Given the description of an element on the screen output the (x, y) to click on. 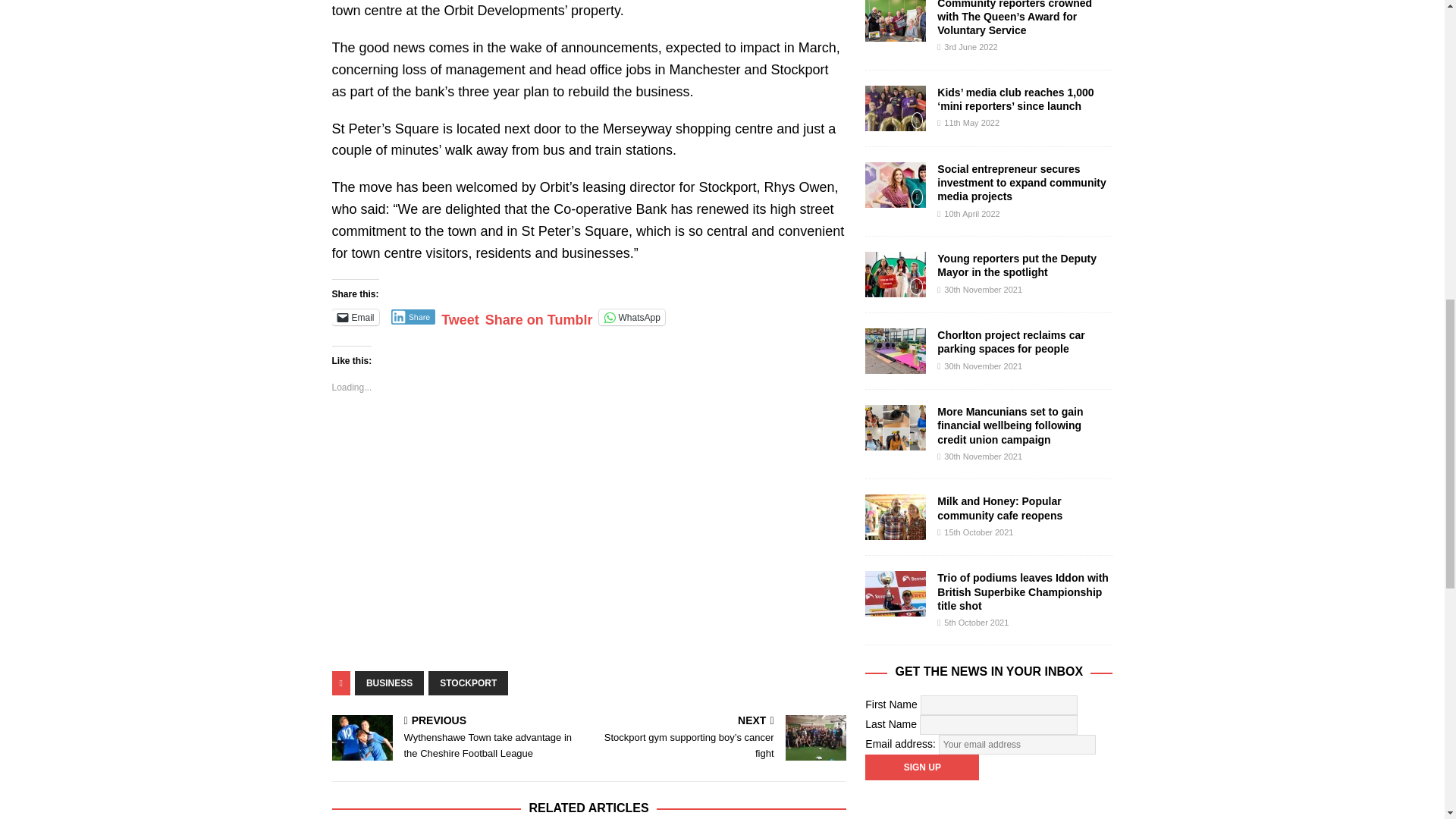
Sign up (921, 767)
